Given the description of an element on the screen output the (x, y) to click on. 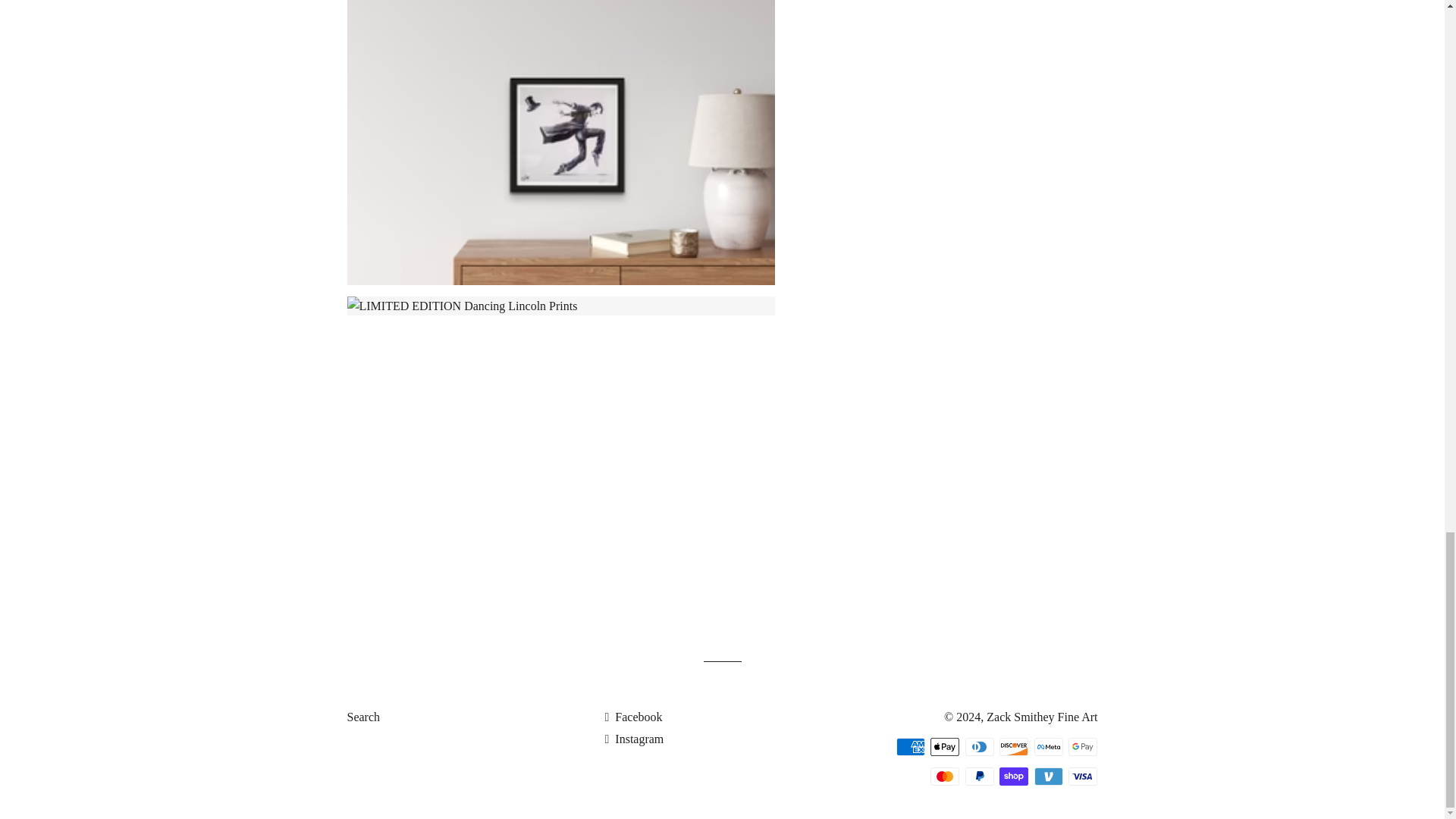
Zack Smithey Fine Art  on Facebook (633, 716)
Meta Pay (1047, 746)
Zack Smithey Fine Art  on Instagram (633, 738)
American Express (910, 746)
Discover (1012, 746)
Google Pay (1082, 746)
Mastercard (944, 776)
Apple Pay (944, 746)
Zack Smithey Fine Art (1042, 716)
Venmo (1047, 776)
